Given the description of an element on the screen output the (x, y) to click on. 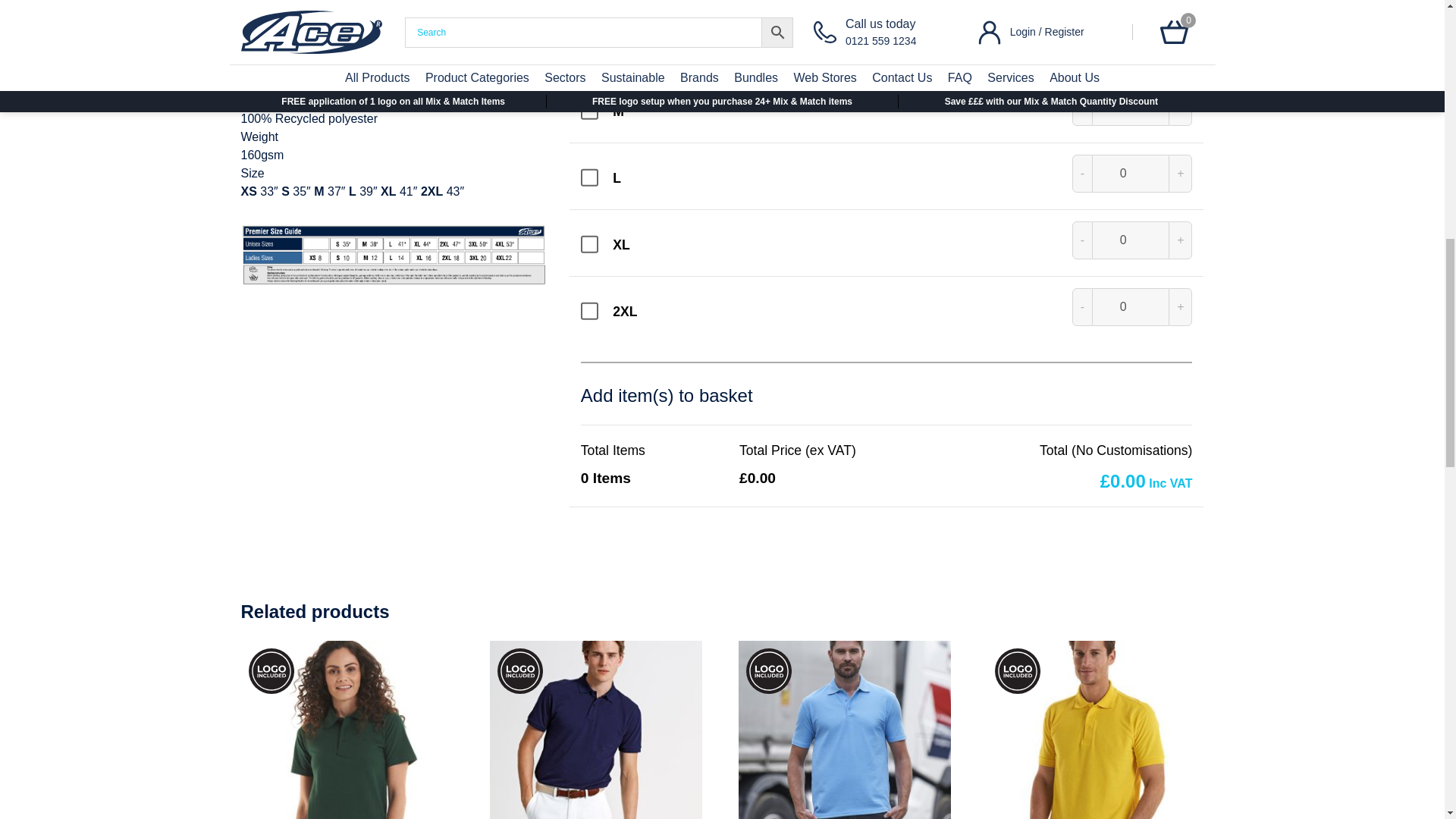
0 (1131, 240)
0 (1131, 106)
0 (1131, 173)
0 (1131, 39)
0 (1131, 306)
